Given the description of an element on the screen output the (x, y) to click on. 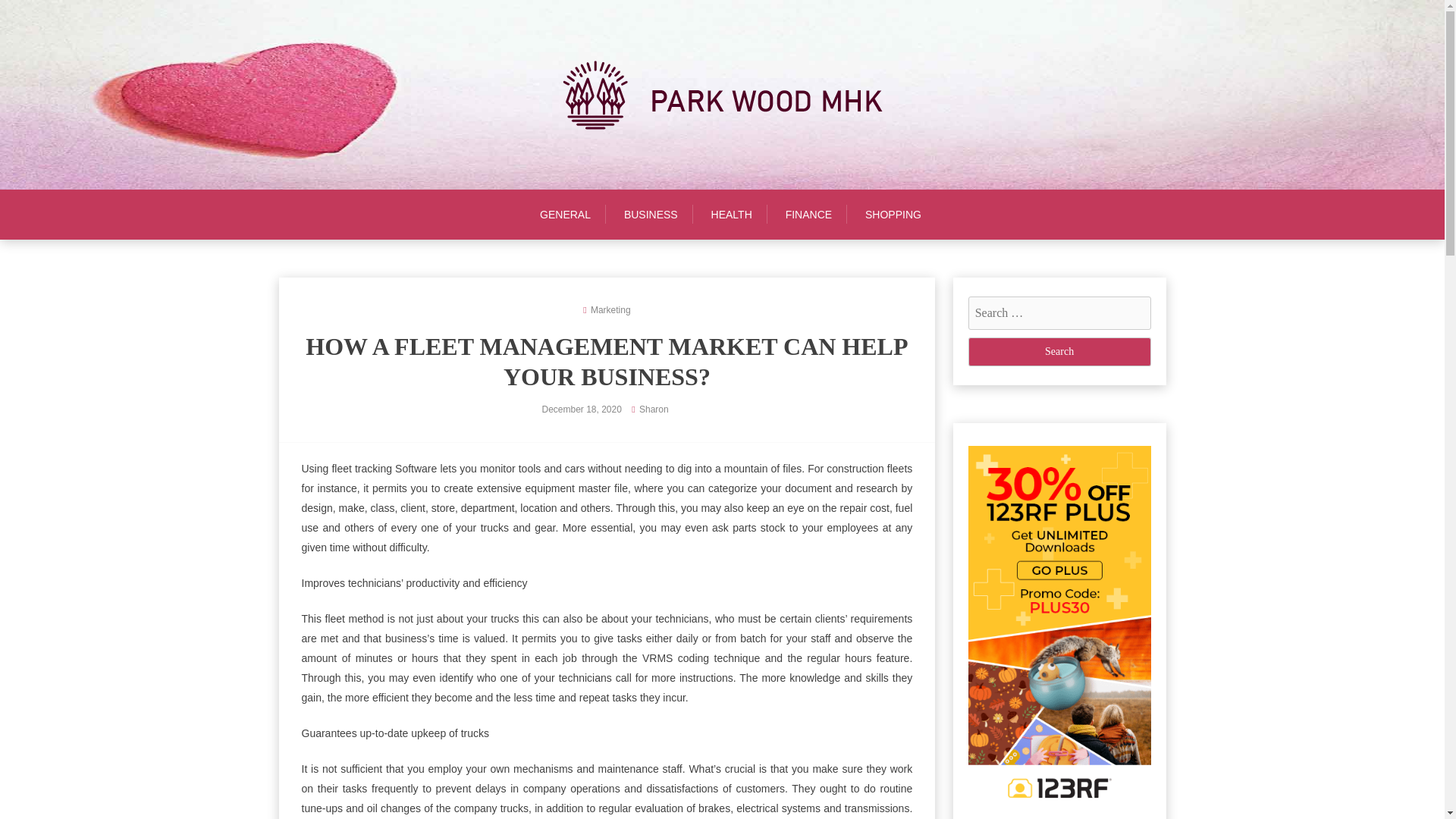
HEALTH (731, 214)
Search (1059, 351)
GENERAL (572, 214)
FINANCE (808, 214)
BUSINESS (650, 214)
Search (1059, 351)
SHOPPING (893, 214)
December 18, 2020 (581, 409)
Search (1059, 351)
Sharon (653, 409)
Marketing (610, 309)
